Given the description of an element on the screen output the (x, y) to click on. 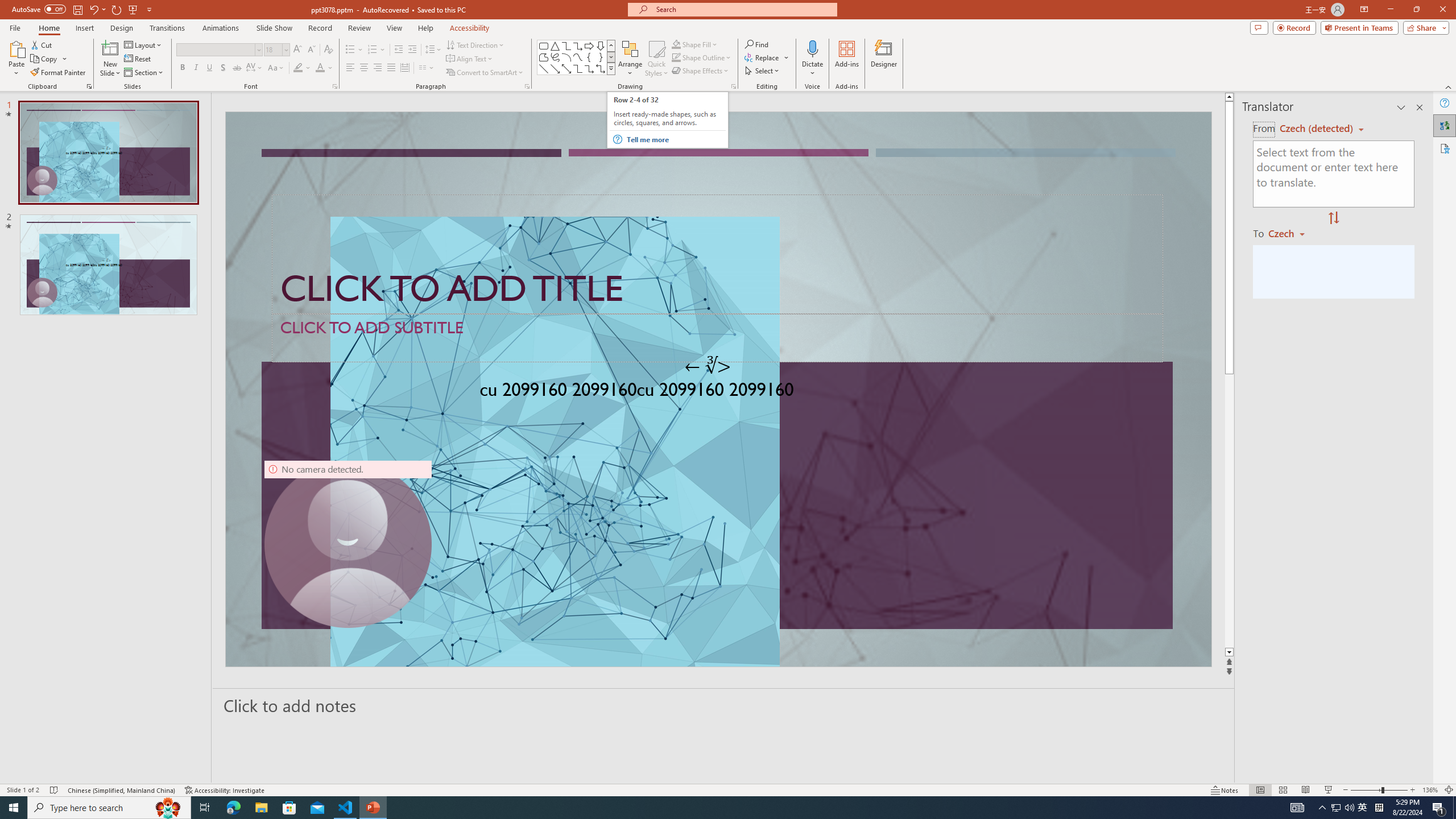
Connector: Elbow (577, 68)
Align Text (470, 58)
An abstract genetic concept (718, 389)
Arrow: Down (600, 45)
Justify (390, 67)
